Given the description of an element on the screen output the (x, y) to click on. 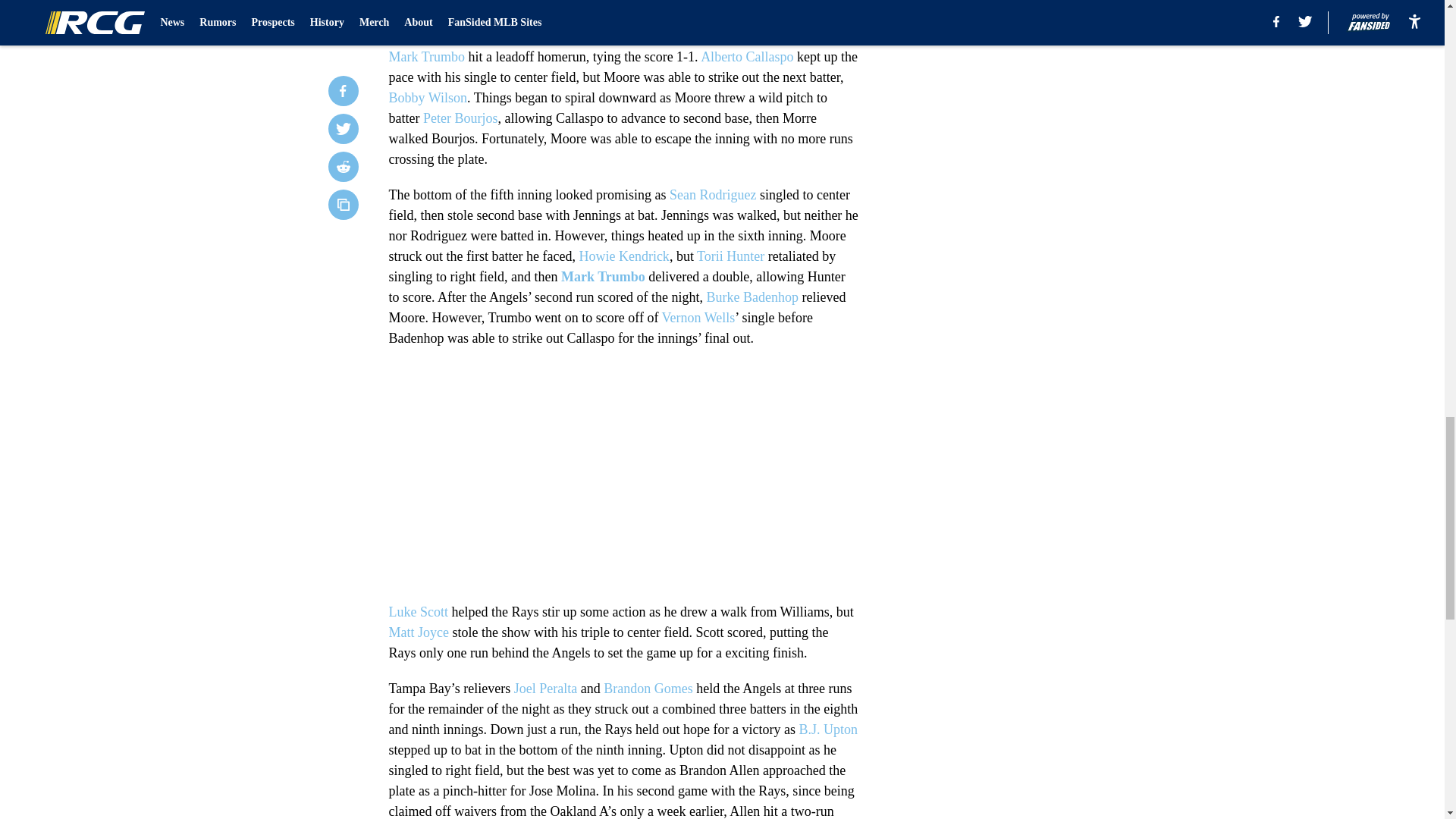
Vernon Wells (698, 317)
Peter Bourjos (460, 118)
Matt Joyce (418, 631)
Howie Kendrick (623, 255)
Alberto Callaspo (746, 56)
Sean Rodriguez (712, 194)
Torii Hunter (730, 255)
Joel Peralta (544, 688)
Burke Badenhop (751, 296)
Bobby Wilson (426, 97)
Mark Trumbo (426, 56)
Luke Scott (418, 611)
Mark Trumbo (602, 276)
